Given the description of an element on the screen output the (x, y) to click on. 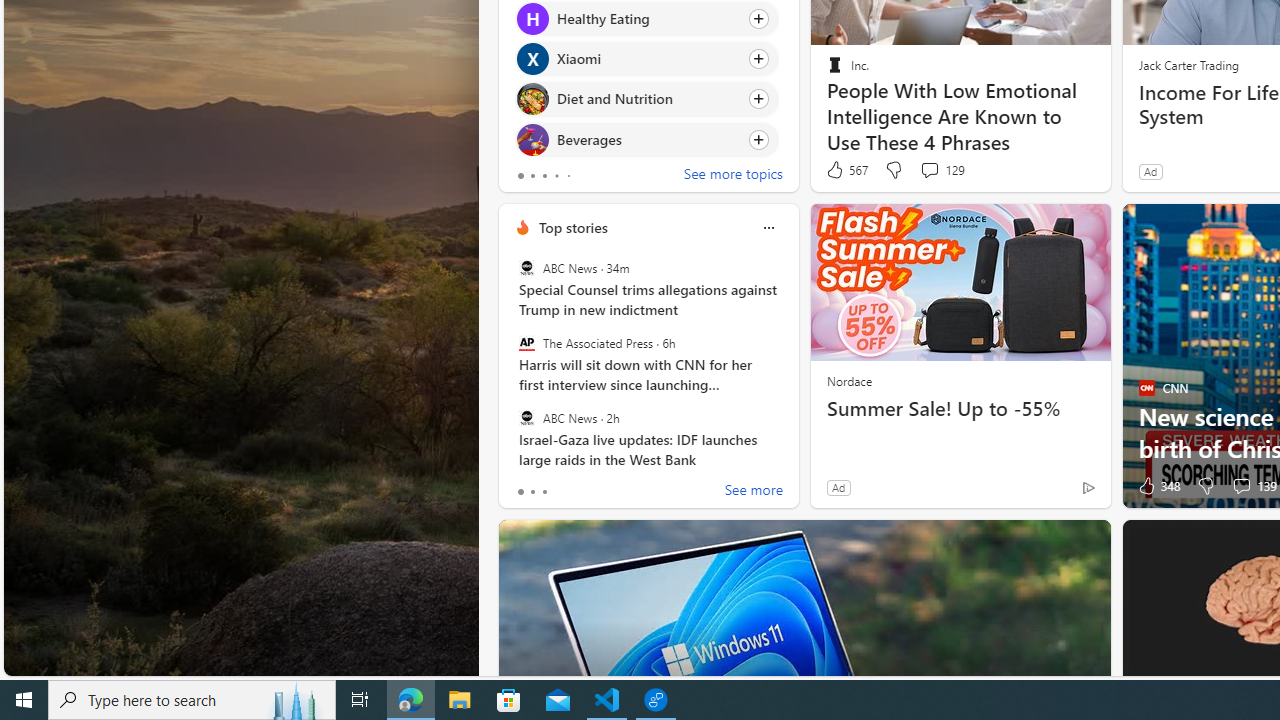
The Associated Press (526, 343)
567 Like (845, 170)
Summer Sale! Up to -55% (959, 408)
Diet and Nutrition (532, 98)
Click to follow topic Beverages (646, 138)
Click to follow topic Xiaomi (646, 59)
Jack Carter Trading (1188, 64)
View comments 139 Comment (1241, 485)
